Given the description of an element on the screen output the (x, y) to click on. 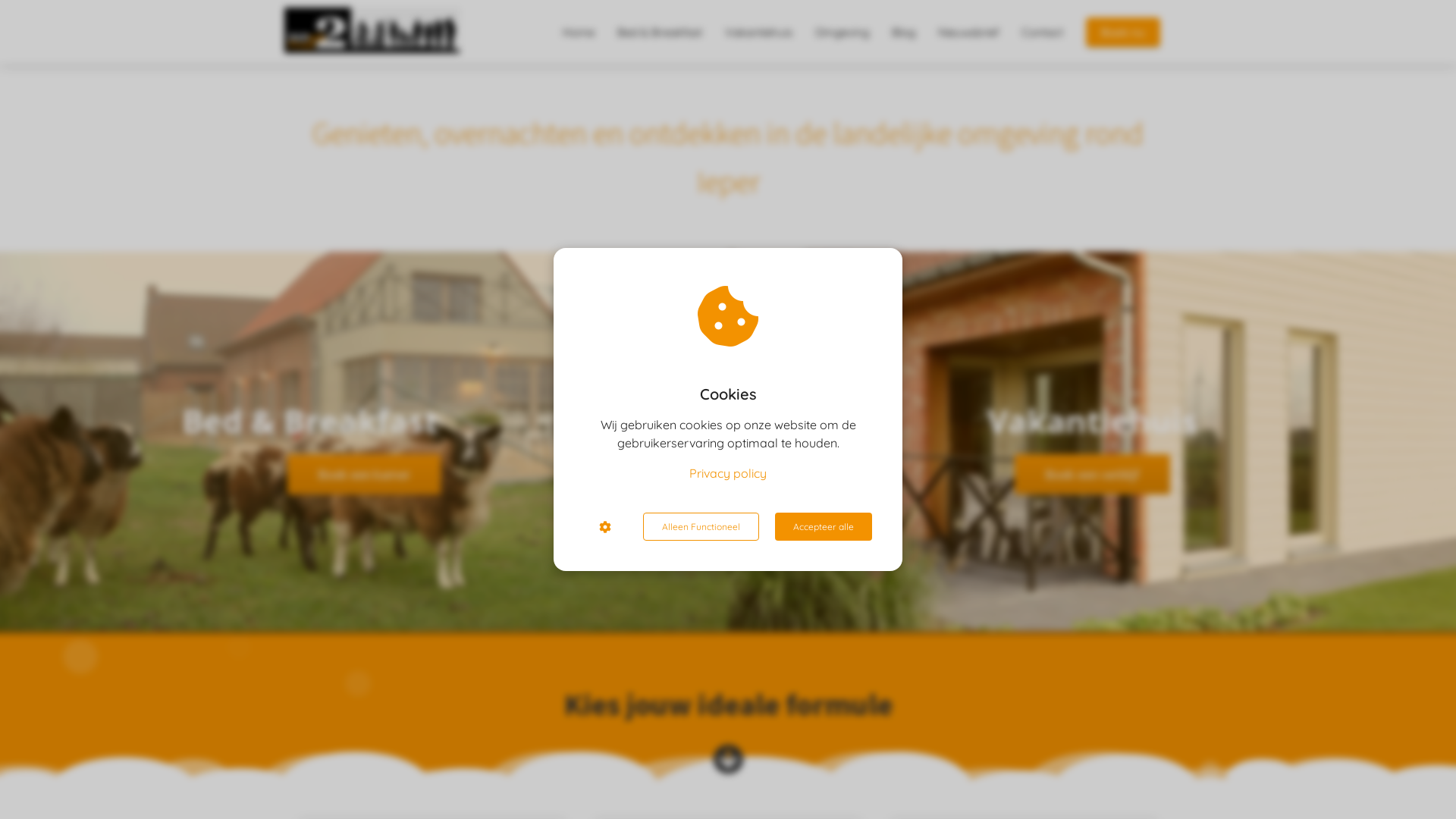
Nieuwsbrief Element type: text (968, 31)
Home Element type: text (578, 31)
Vakantiehuis Element type: text (758, 31)
Boek nu Element type: text (1122, 31)
Boek een verblijf Element type: text (1092, 476)
Bed & Breakfast Element type: text (659, 31)
Terrace view Element type: hover (364, 440)
Blog Element type: text (903, 31)
Omgeving Element type: text (841, 31)
Privacy policy Element type: text (727, 473)
Contact Element type: text (1042, 31)
Boek een kamer Element type: text (363, 476)
